Given the description of an element on the screen output the (x, y) to click on. 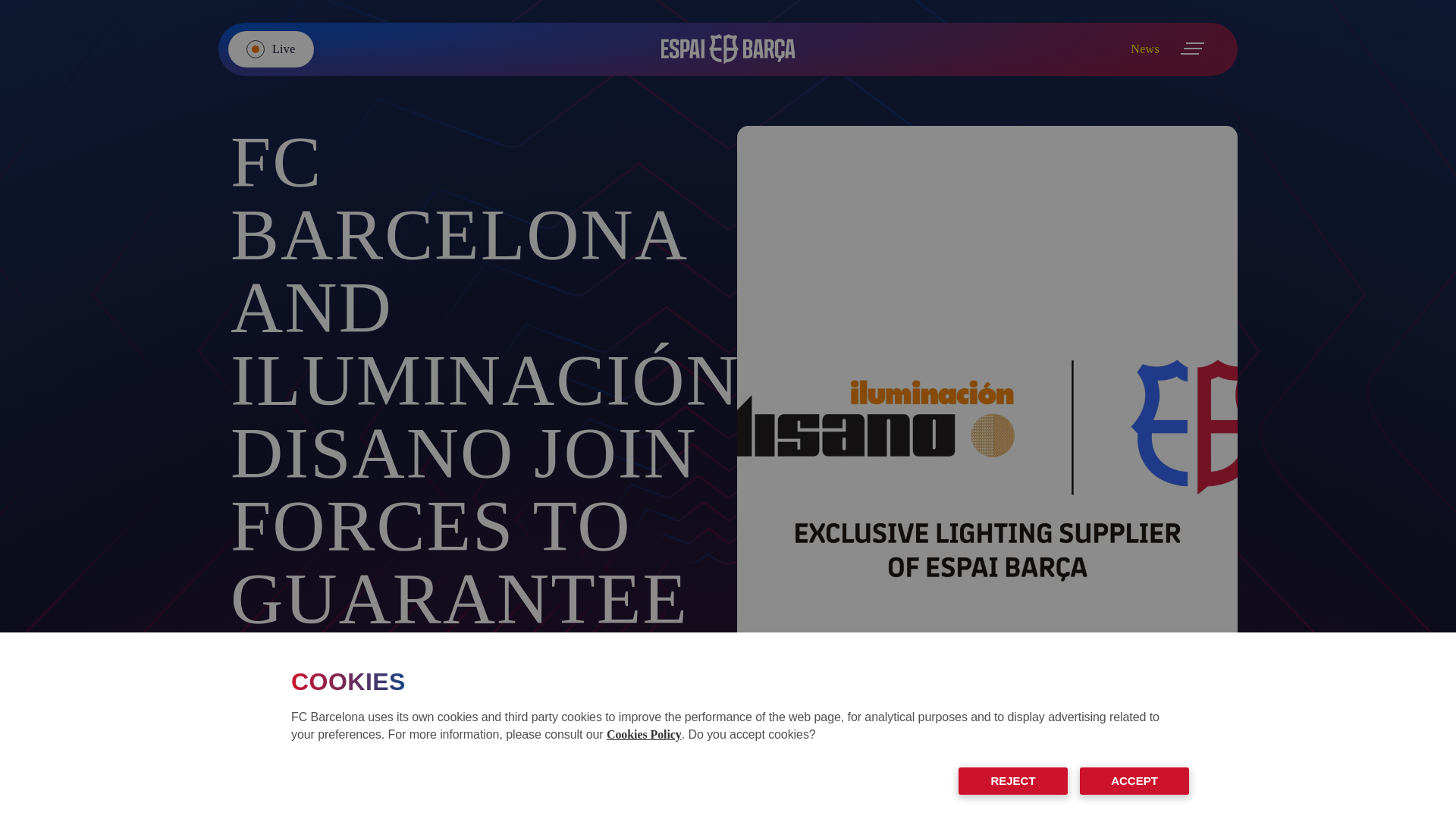
Live (271, 49)
Live cameras Spotify Camp Nou (271, 49)
REJECT (1012, 780)
Cookies Policy (644, 734)
Menu (1192, 48)
ACCEPT (1134, 780)
